Given the description of an element on the screen output the (x, y) to click on. 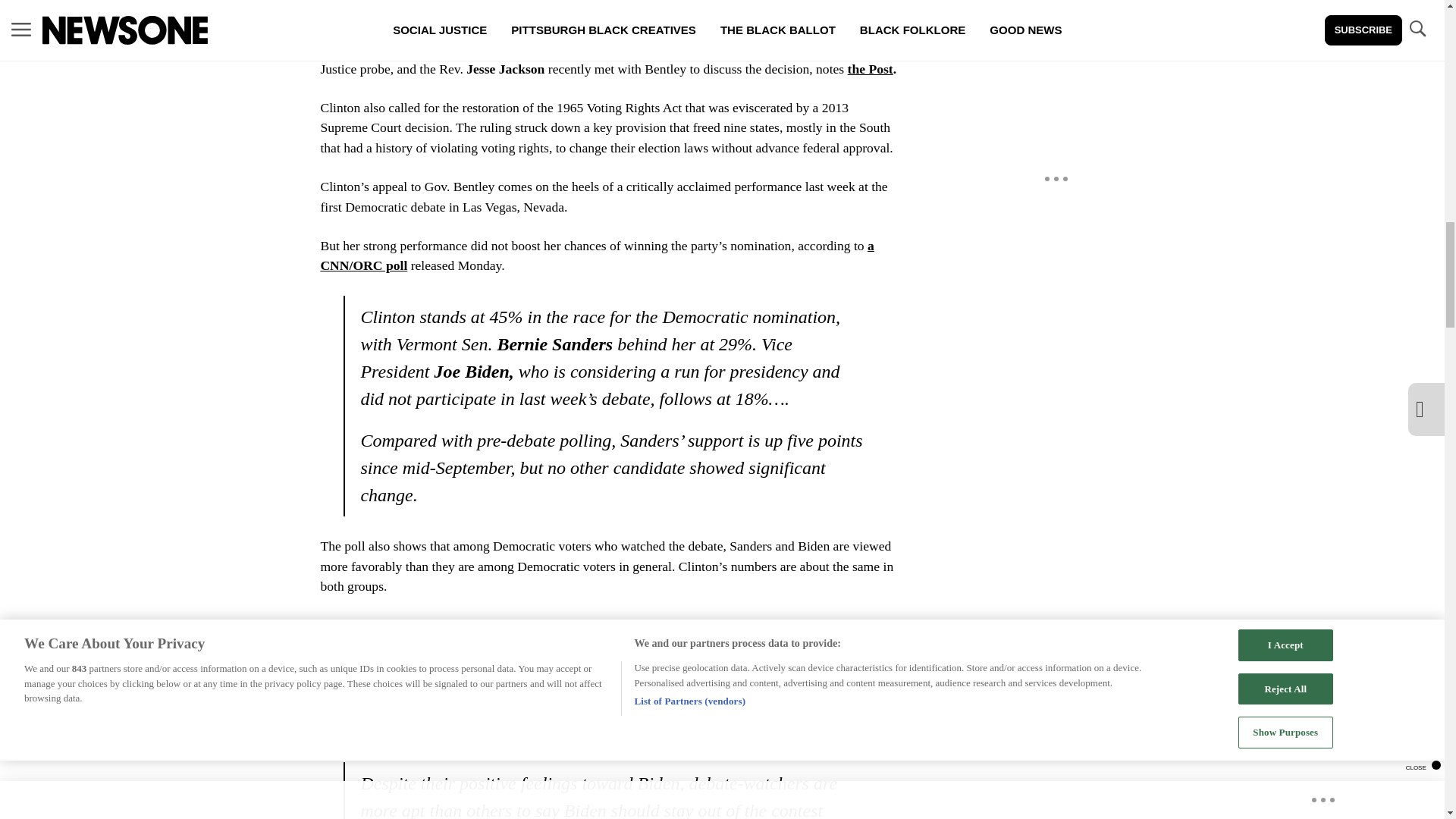
the Post (870, 68)
